Given the description of an element on the screen output the (x, y) to click on. 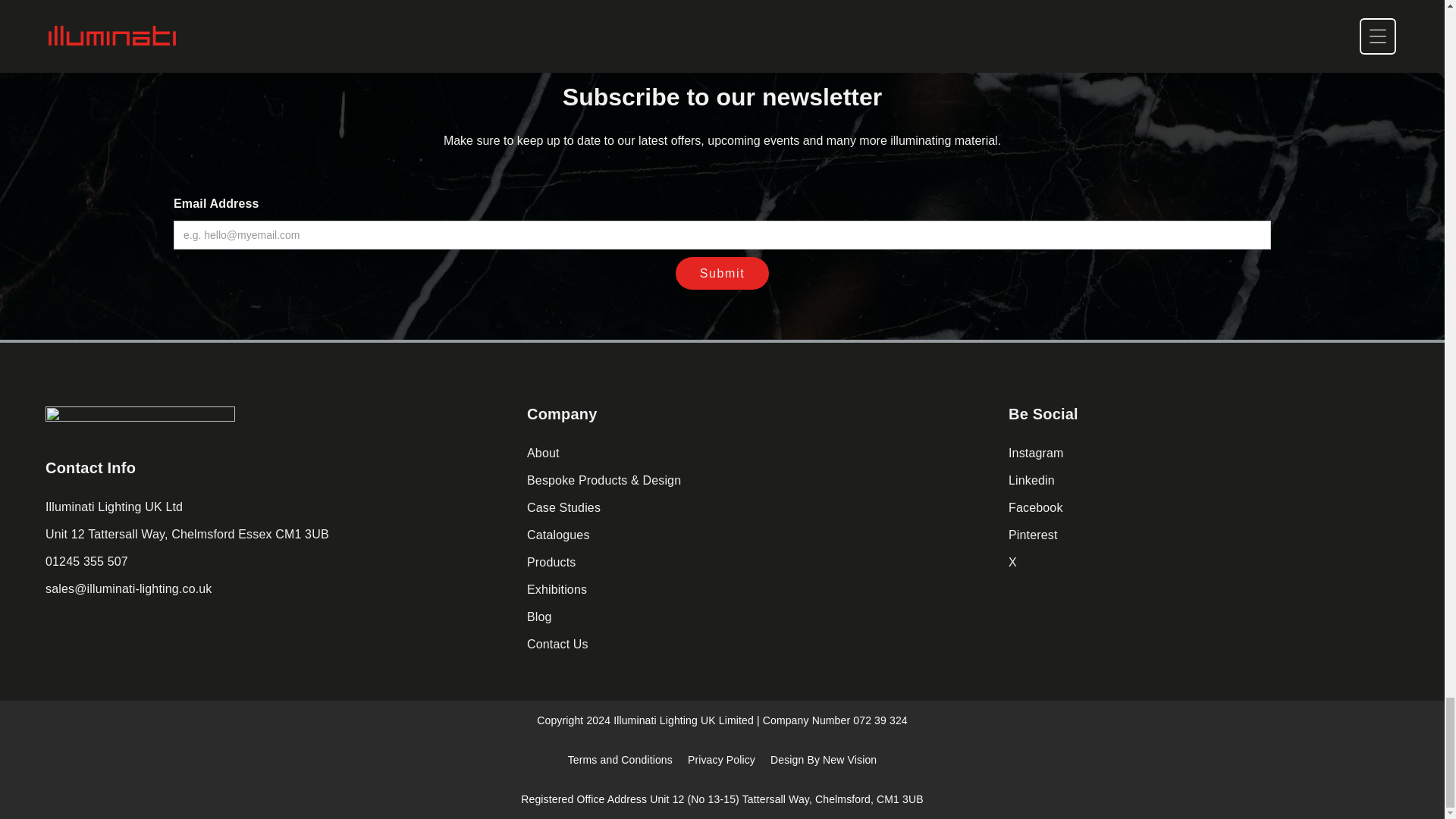
Submit (721, 273)
